Given the description of an element on the screen output the (x, y) to click on. 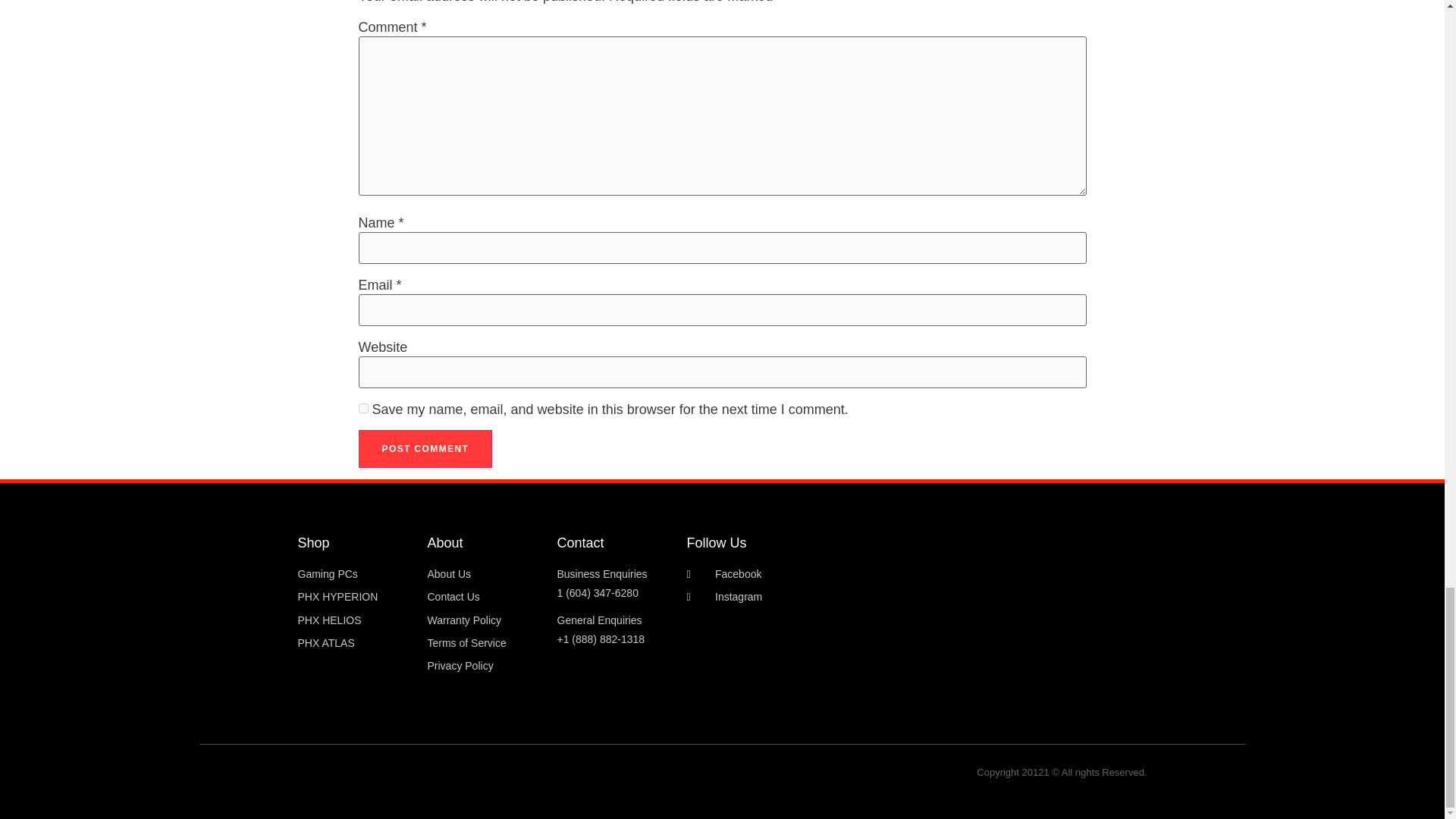
yes (363, 408)
Warranty Policy (484, 619)
PHX HYPERION (354, 597)
Facebook (805, 574)
Terms of Service (484, 642)
About Us (484, 574)
Post Comment (425, 448)
Privacy Policy (484, 665)
PHX HELIOS (354, 619)
PHX ATLAS (354, 642)
Contact Us (484, 597)
Gaming PCs (354, 574)
Post Comment (425, 448)
